Given the description of an element on the screen output the (x, y) to click on. 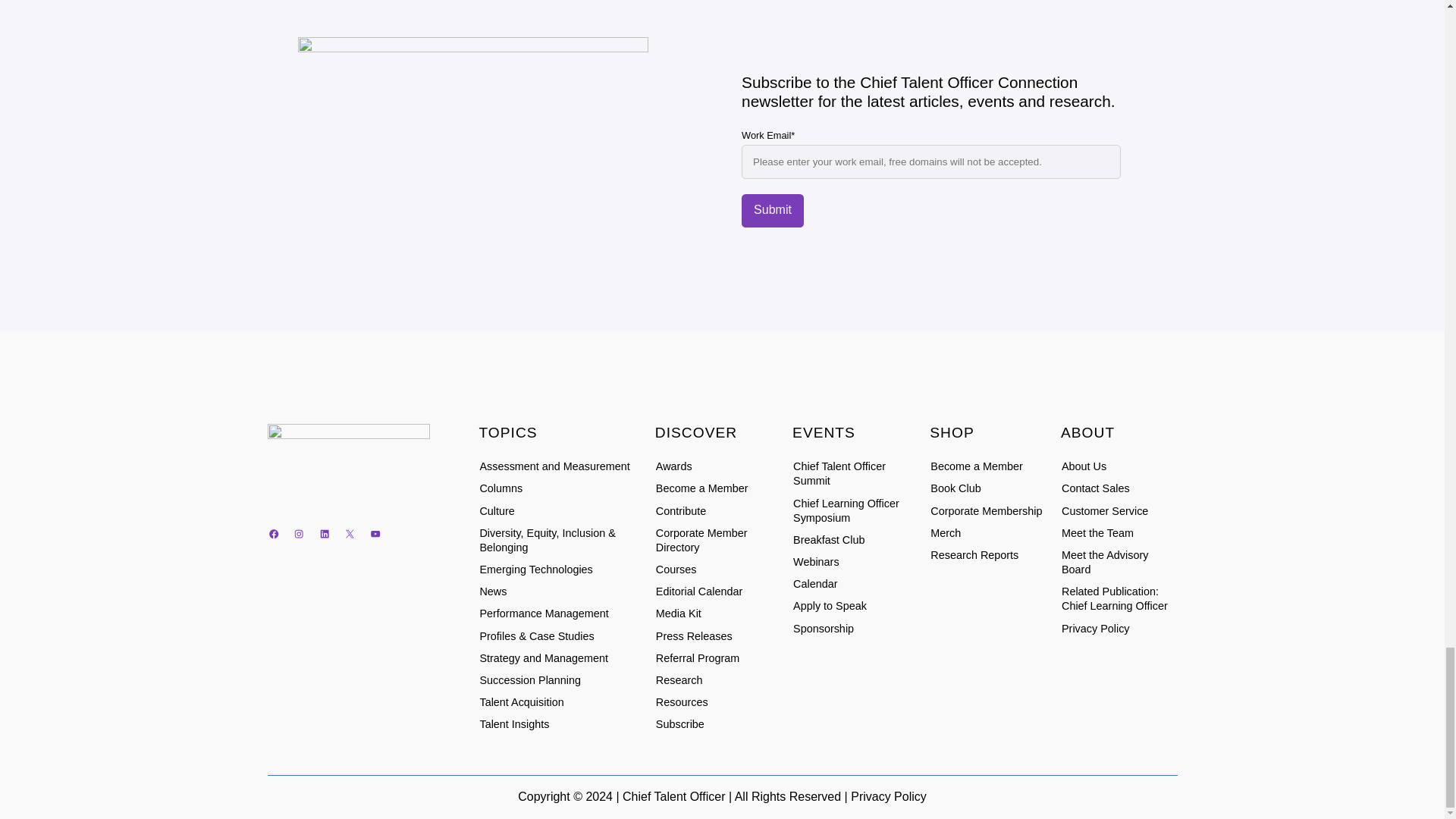
Submit (772, 210)
